Given the description of an element on the screen output the (x, y) to click on. 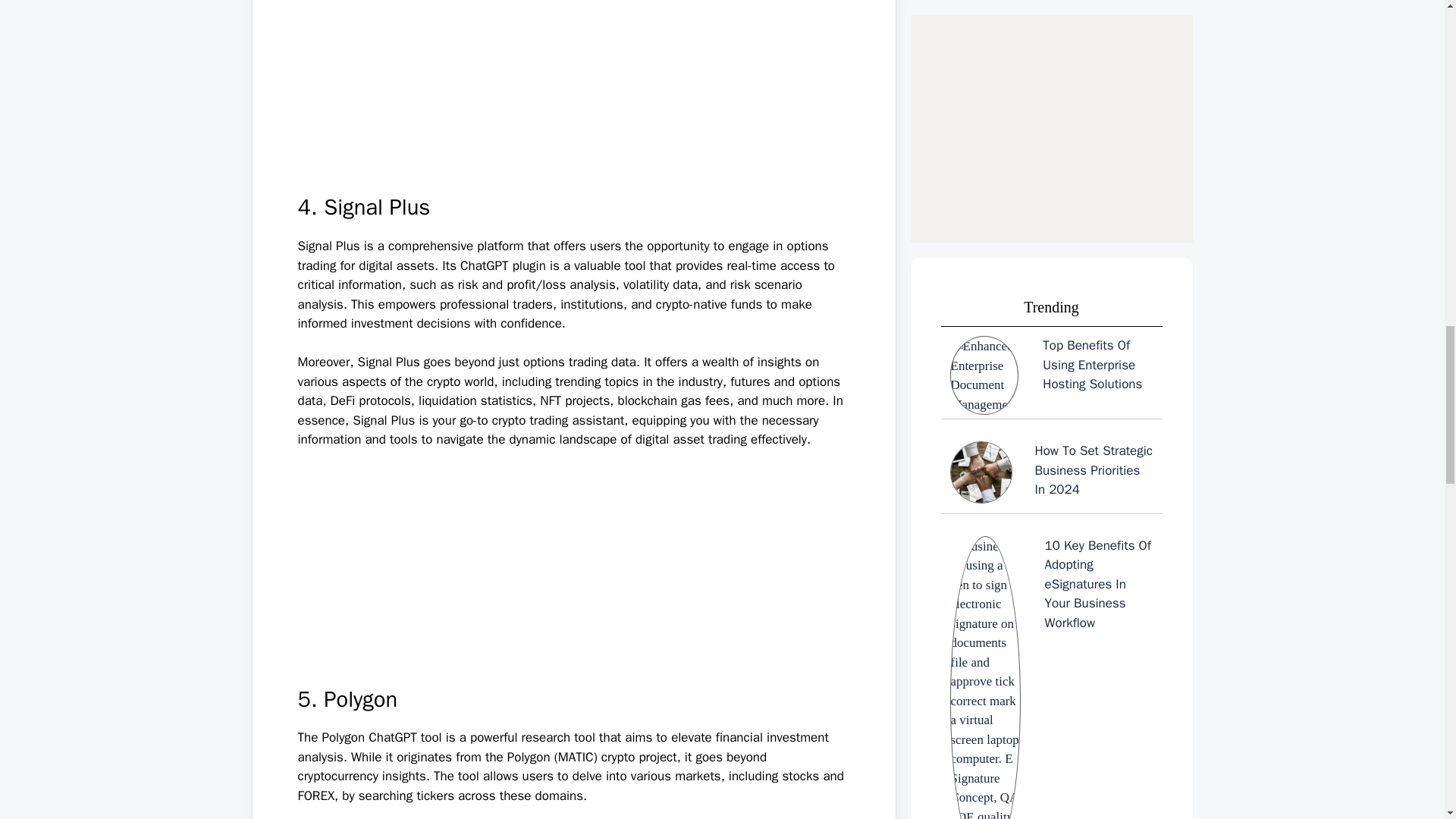
How to Watch Spanish TV in the US (1051, 194)
Navigating the Maze: Understanding Search Engine Redirects (1051, 15)
